Given the description of an element on the screen output the (x, y) to click on. 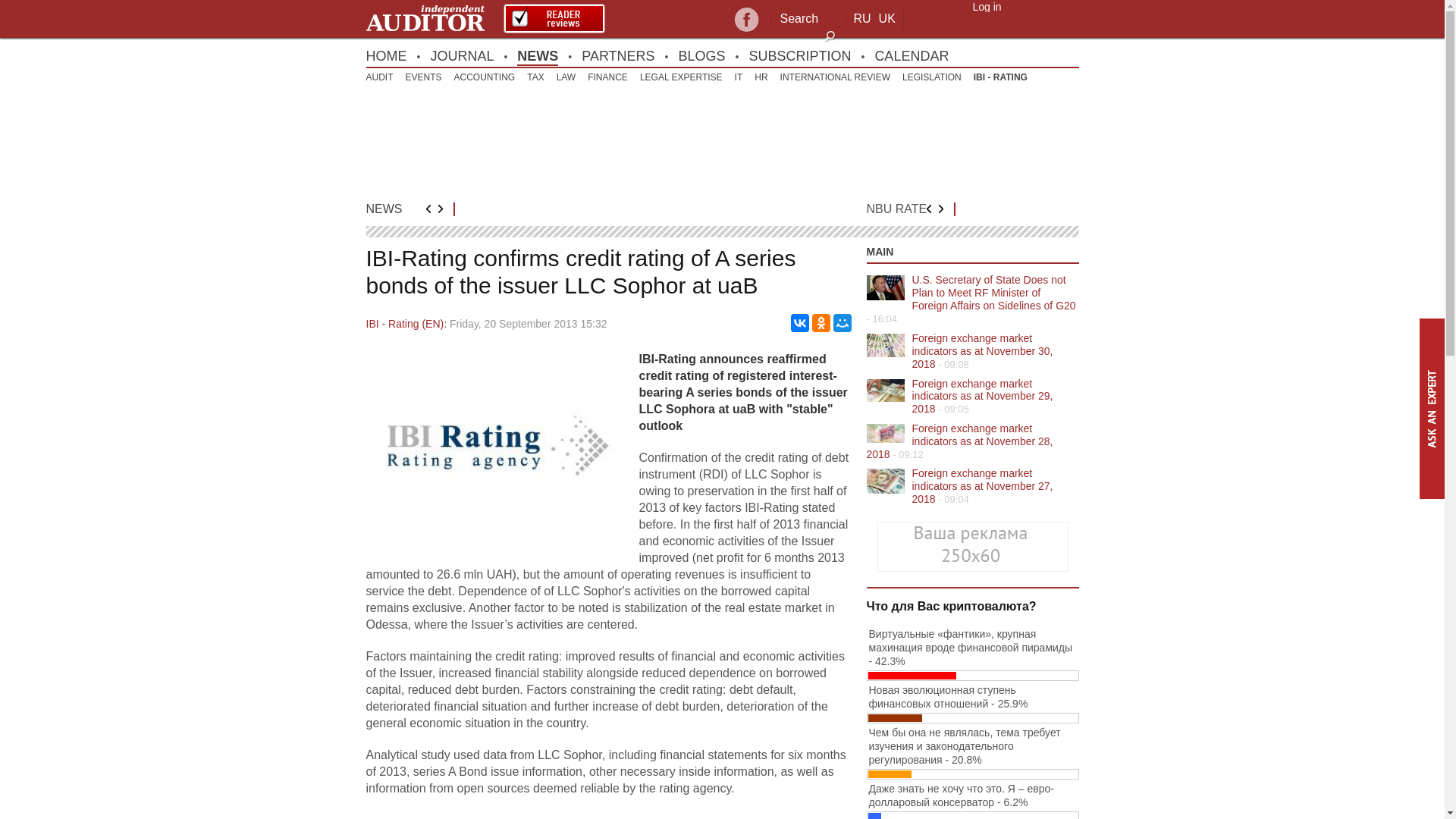
Click to preview image (494, 531)
3rd party ad content (722, 143)
